Given the description of an element on the screen output the (x, y) to click on. 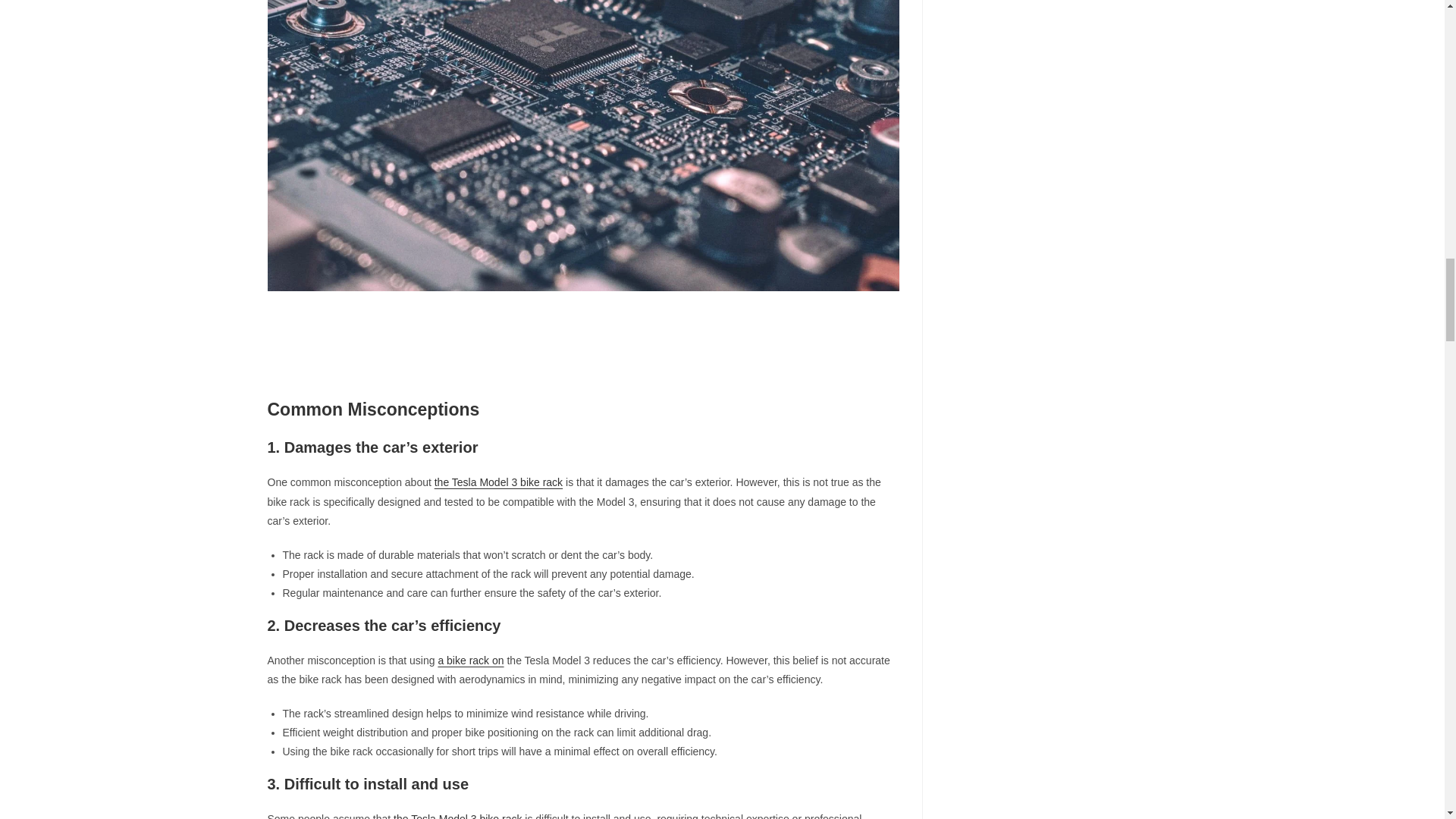
the Tesla Model 3 bike rack (497, 481)
the Tesla Model 3 bike rack (457, 816)
a bike rack on (470, 660)
